Given the description of an element on the screen output the (x, y) to click on. 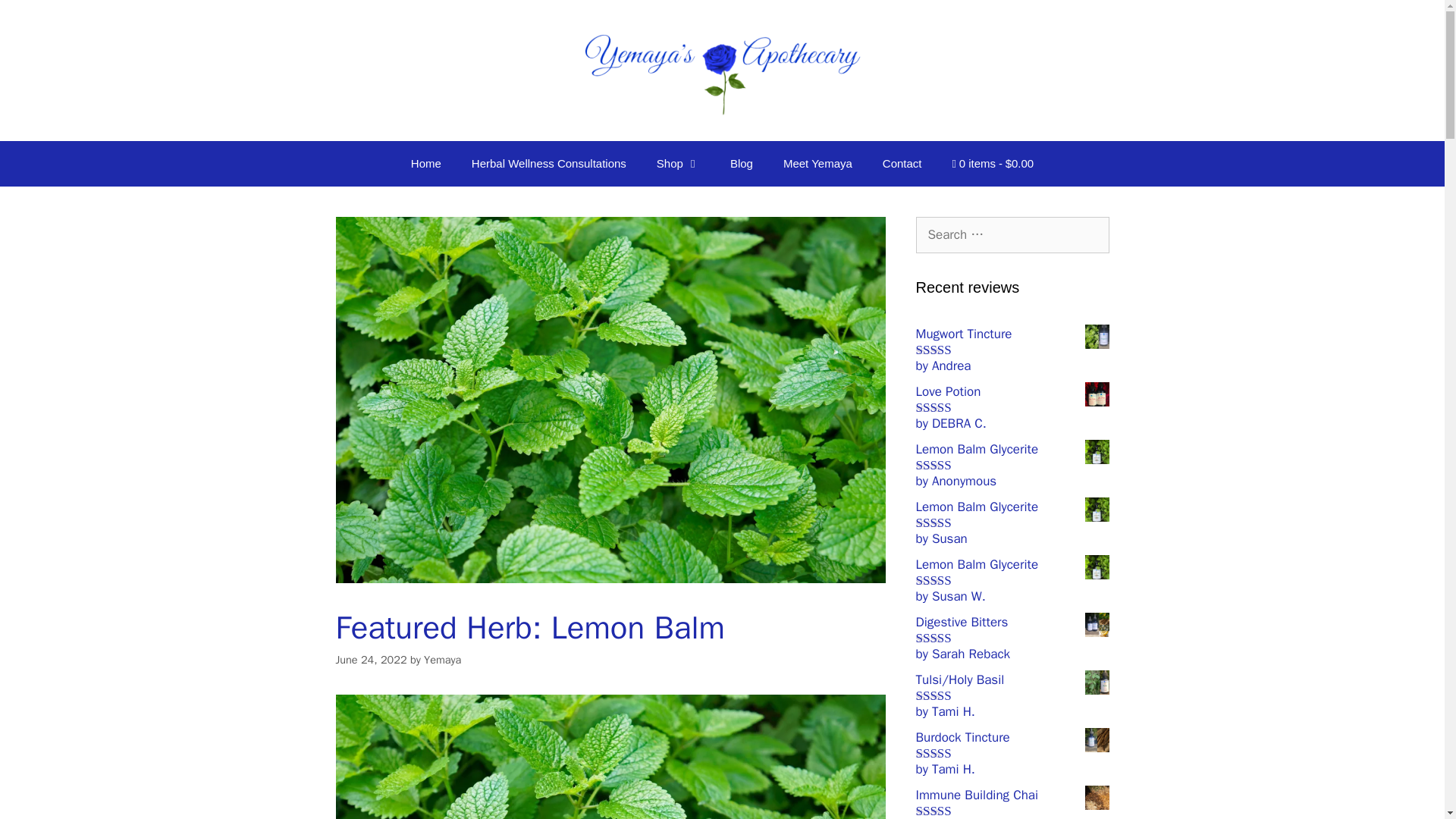
Shop (678, 163)
Yemaya (442, 659)
Blog (741, 163)
Home (426, 163)
Search for: (1012, 235)
Meet Yemaya (817, 163)
Herbal Wellness Consultations (549, 163)
Start shopping (993, 163)
Contact (902, 163)
View all posts by Yemaya (442, 659)
